Given the description of an element on the screen output the (x, y) to click on. 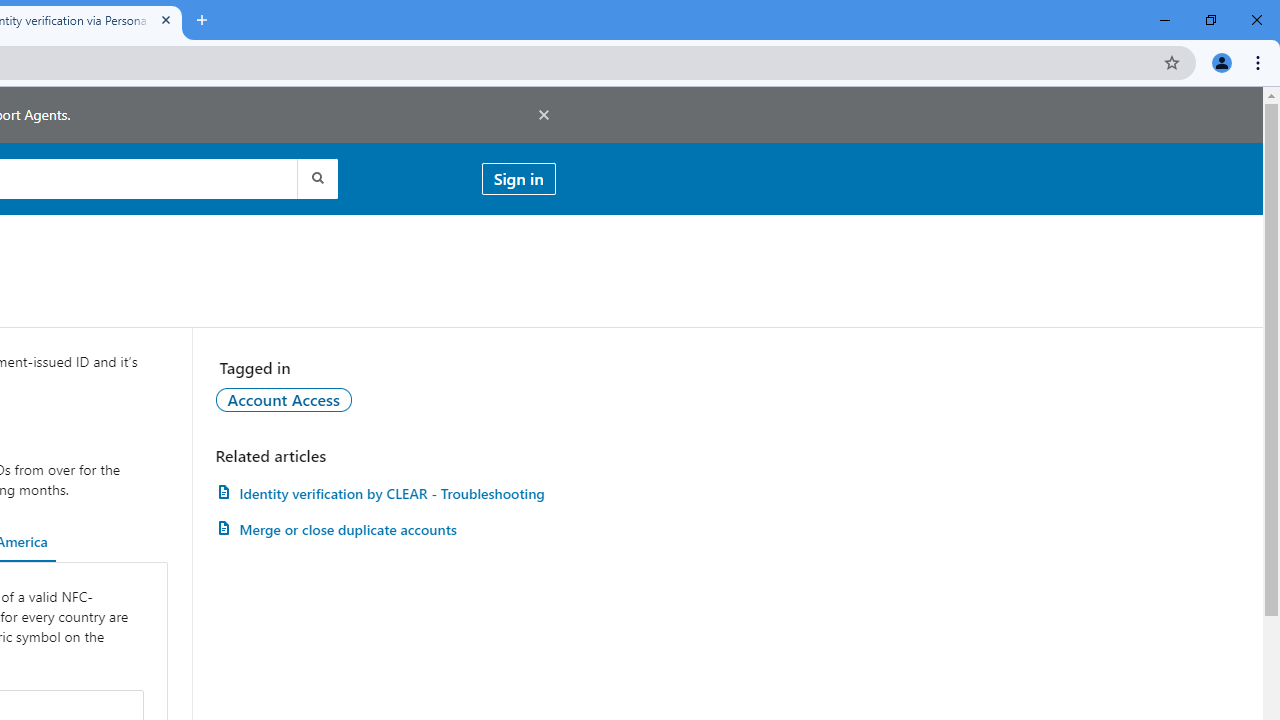
Submit search (316, 178)
Account Access (283, 399)
AutomationID: article-link-a1457505 (385, 493)
Identity verification by CLEAR - Troubleshooting (385, 493)
AutomationID: topic-link-a151002 (283, 399)
Merge or close duplicate accounts (385, 529)
